Given the description of an element on the screen output the (x, y) to click on. 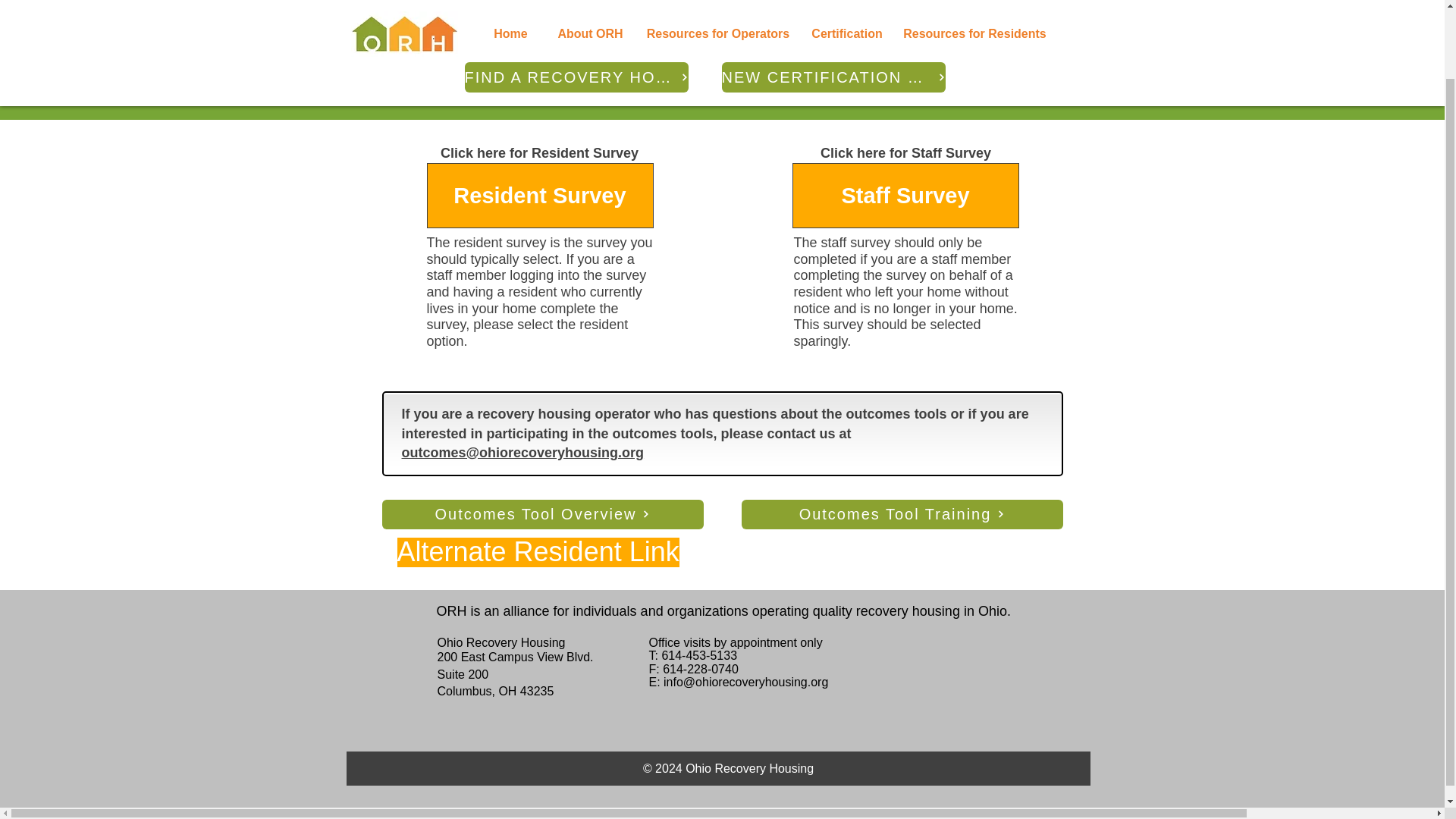
Resident Survey (539, 195)
FIND A RECOVERY HOME (575, 7)
Staff Survey (904, 195)
Alternate Resident Link (538, 552)
NEW CERTIFICATION MEASURES (833, 7)
Outcomes Tool Overview (542, 514)
Outcomes Tool Training (901, 514)
